Given the description of an element on the screen output the (x, y) to click on. 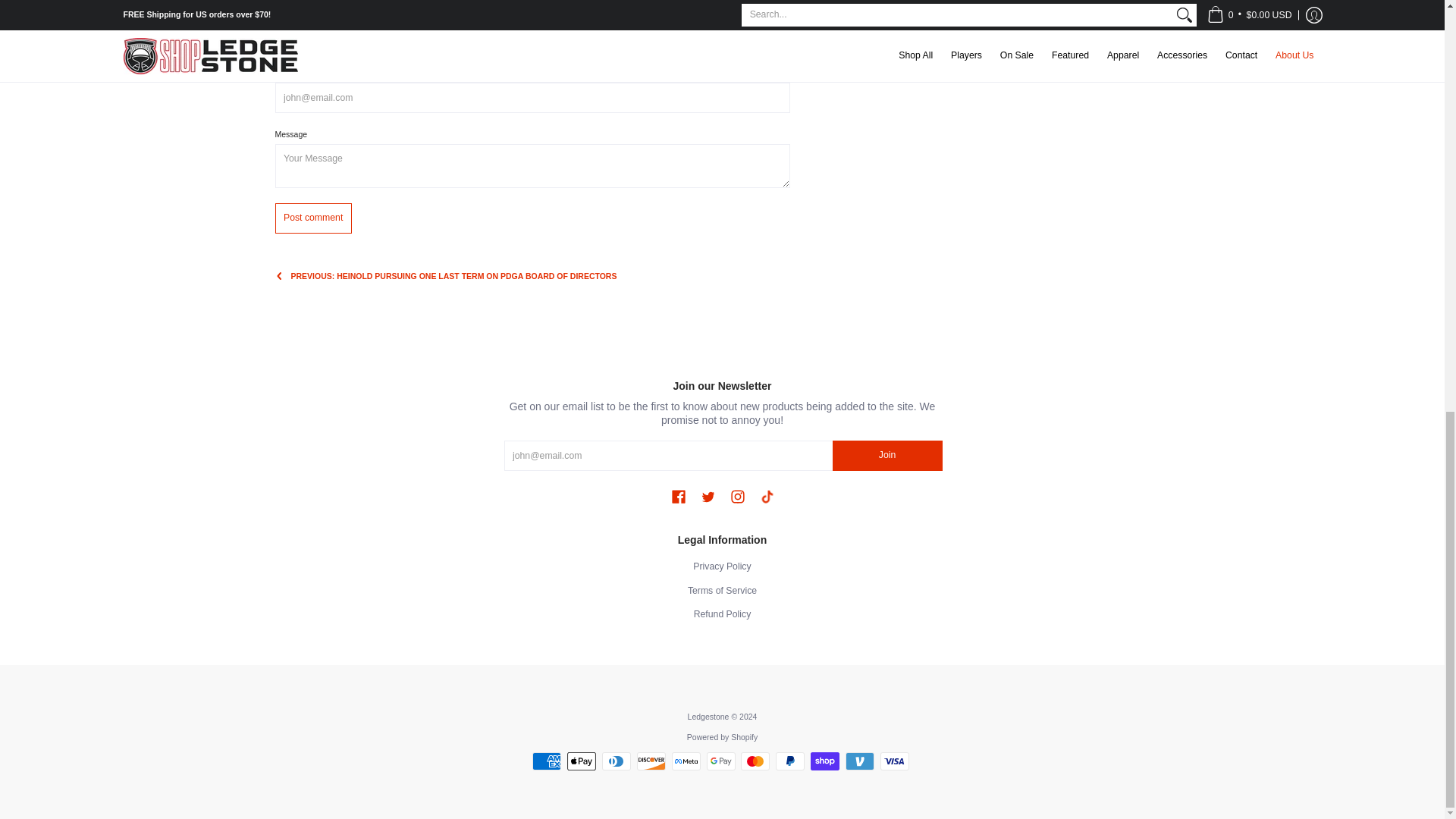
PayPal (790, 761)
Meta Pay (685, 761)
Apple Pay (581, 761)
Venmo (860, 761)
Diners Club (616, 761)
American Express (546, 761)
Discover (651, 761)
Post comment (312, 217)
Shop Pay (825, 761)
Mastercard (755, 761)
Google Pay (720, 761)
